Given the description of an element on the screen output the (x, y) to click on. 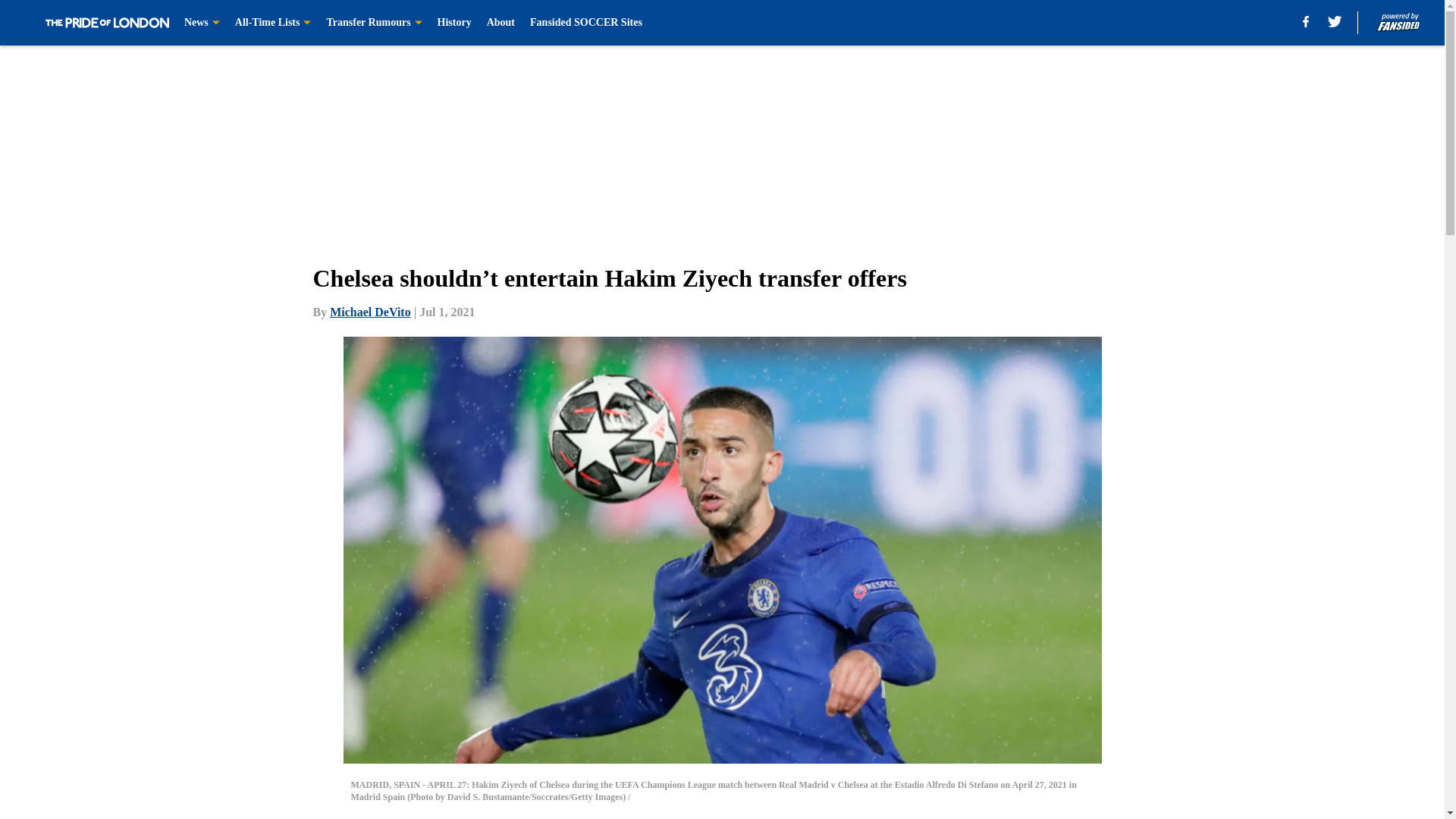
History (454, 22)
Michael DeVito (370, 311)
Fansided SOCCER Sites (585, 22)
About (500, 22)
